Given the description of an element on the screen output the (x, y) to click on. 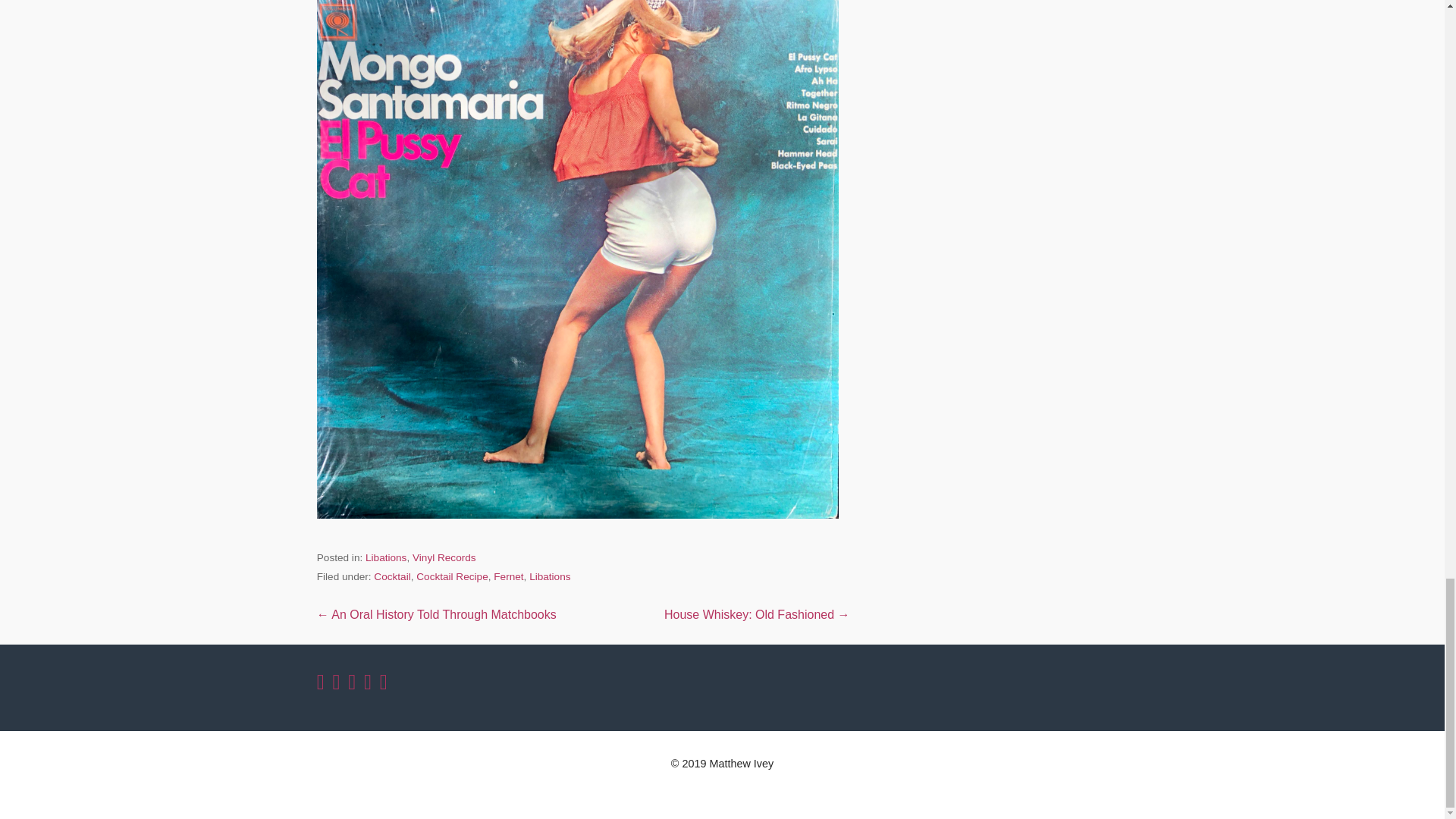
Cocktail Recipe (451, 576)
Libations (549, 576)
Cocktail (392, 576)
Libations (385, 557)
Vinyl Records (444, 557)
Fernet (507, 576)
